Given the description of an element on the screen output the (x, y) to click on. 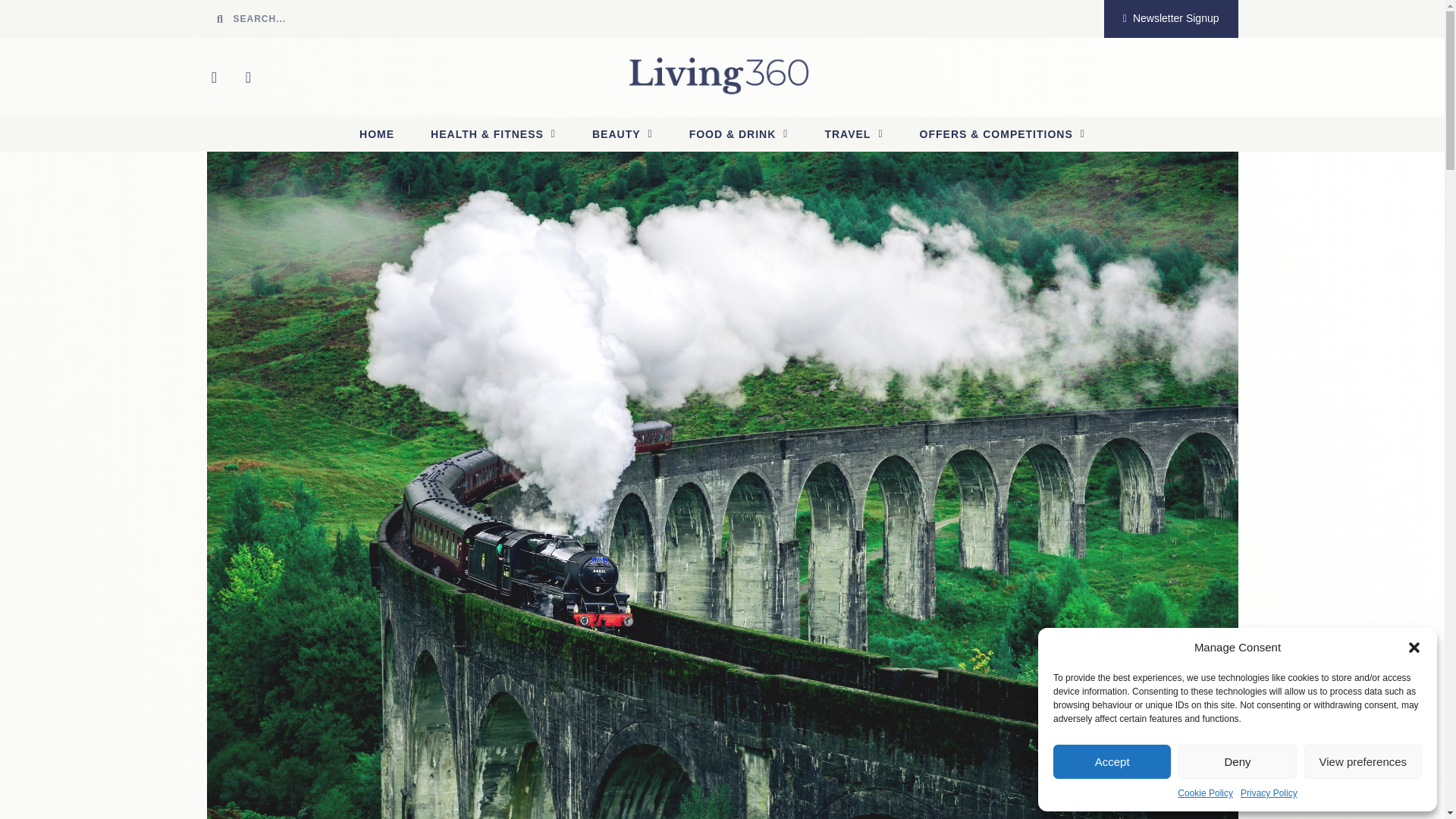
HOME (376, 134)
TRAVEL (853, 134)
Newsletter Signup (1171, 18)
Accept (1111, 761)
Cookie Policy (1205, 793)
Privacy Policy (1268, 793)
BEAUTY (622, 134)
Deny (1236, 761)
View preferences (1363, 761)
